Given the description of an element on the screen output the (x, y) to click on. 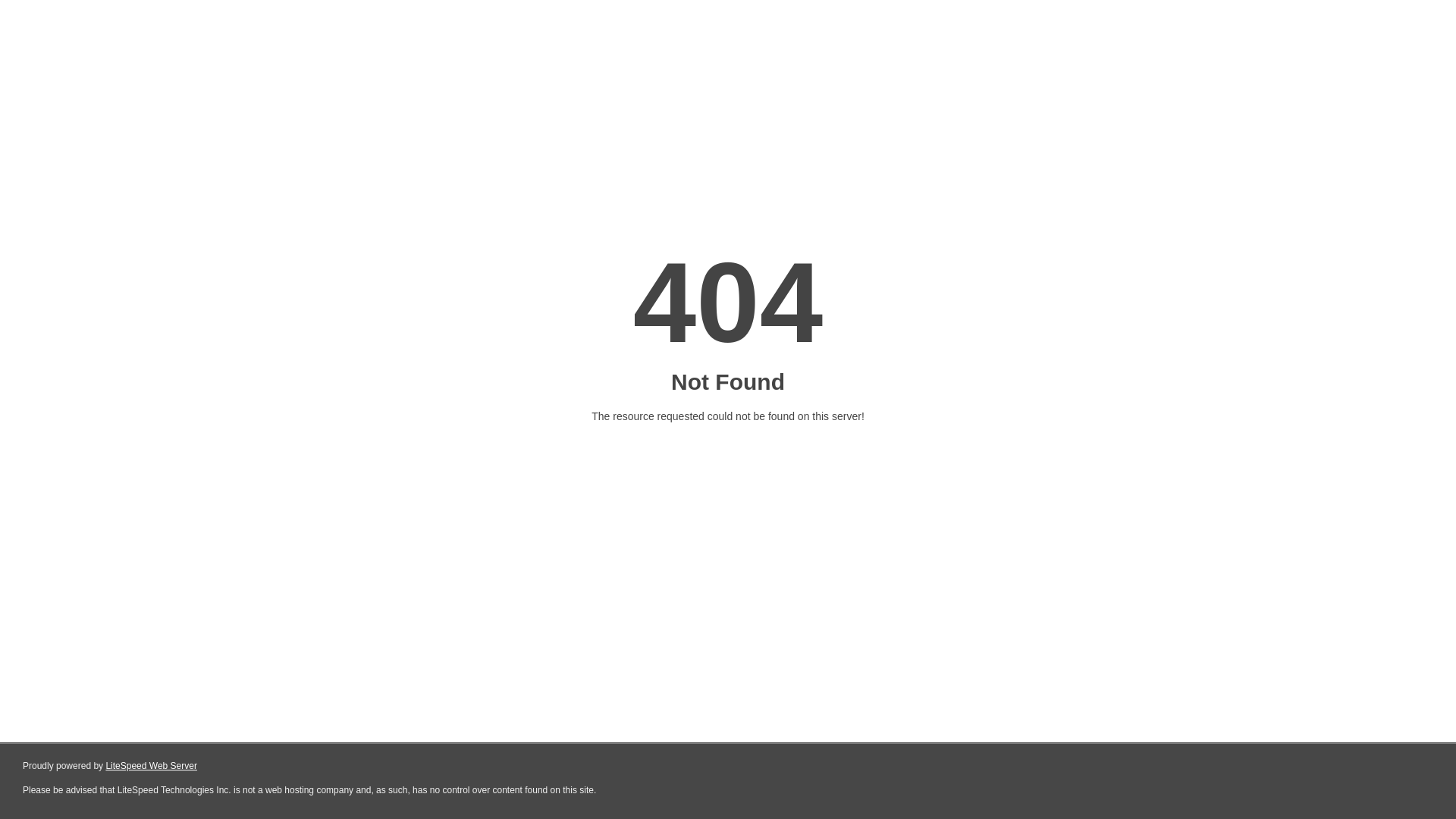
LiteSpeed Web Server Element type: text (151, 765)
